Given the description of an element on the screen output the (x, y) to click on. 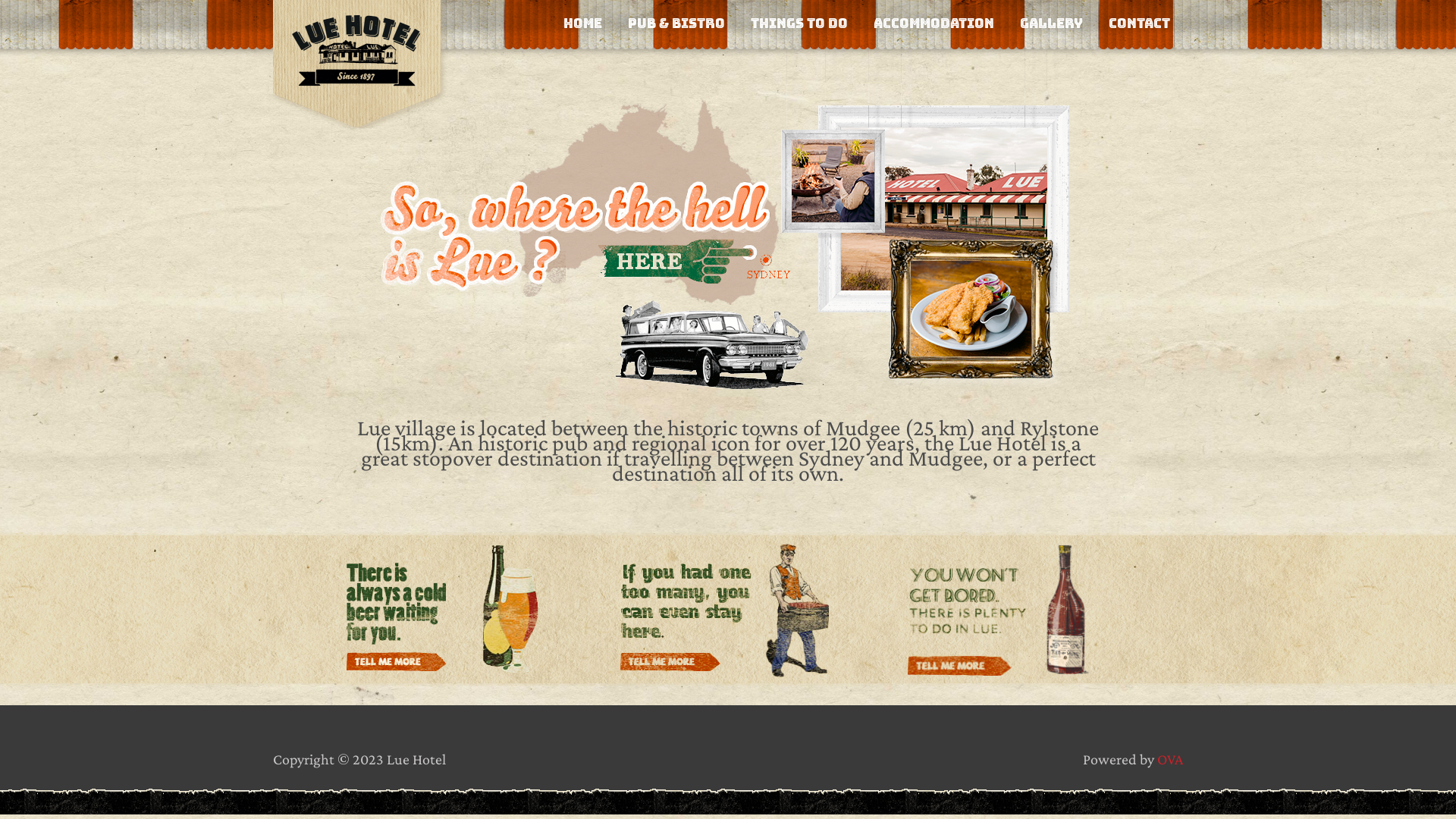
lue_feature_links_0002_Layer-2 Element type: hover (442, 609)
lue_feature_links_0001_Layer-3 Element type: hover (727, 609)
OVA Element type: text (1170, 758)
link3 Element type: hover (1020, 609)
200527_LH_Homemap Element type: hover (728, 208)
